Given the description of an element on the screen output the (x, y) to click on. 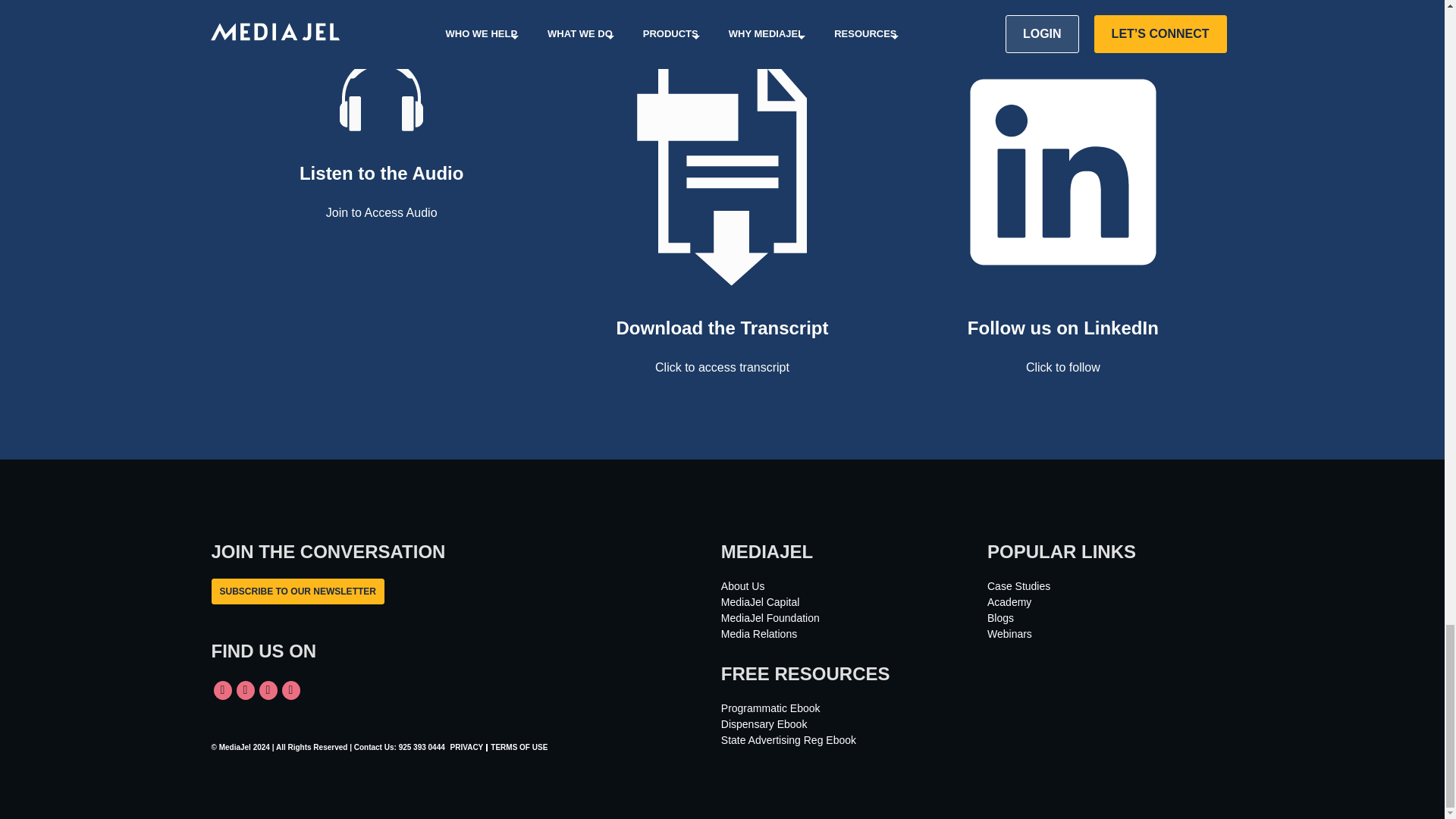
LinkedIn (222, 690)
Twitter (244, 690)
Instagram (290, 690)
Facebook (268, 690)
